Given the description of an element on the screen output the (x, y) to click on. 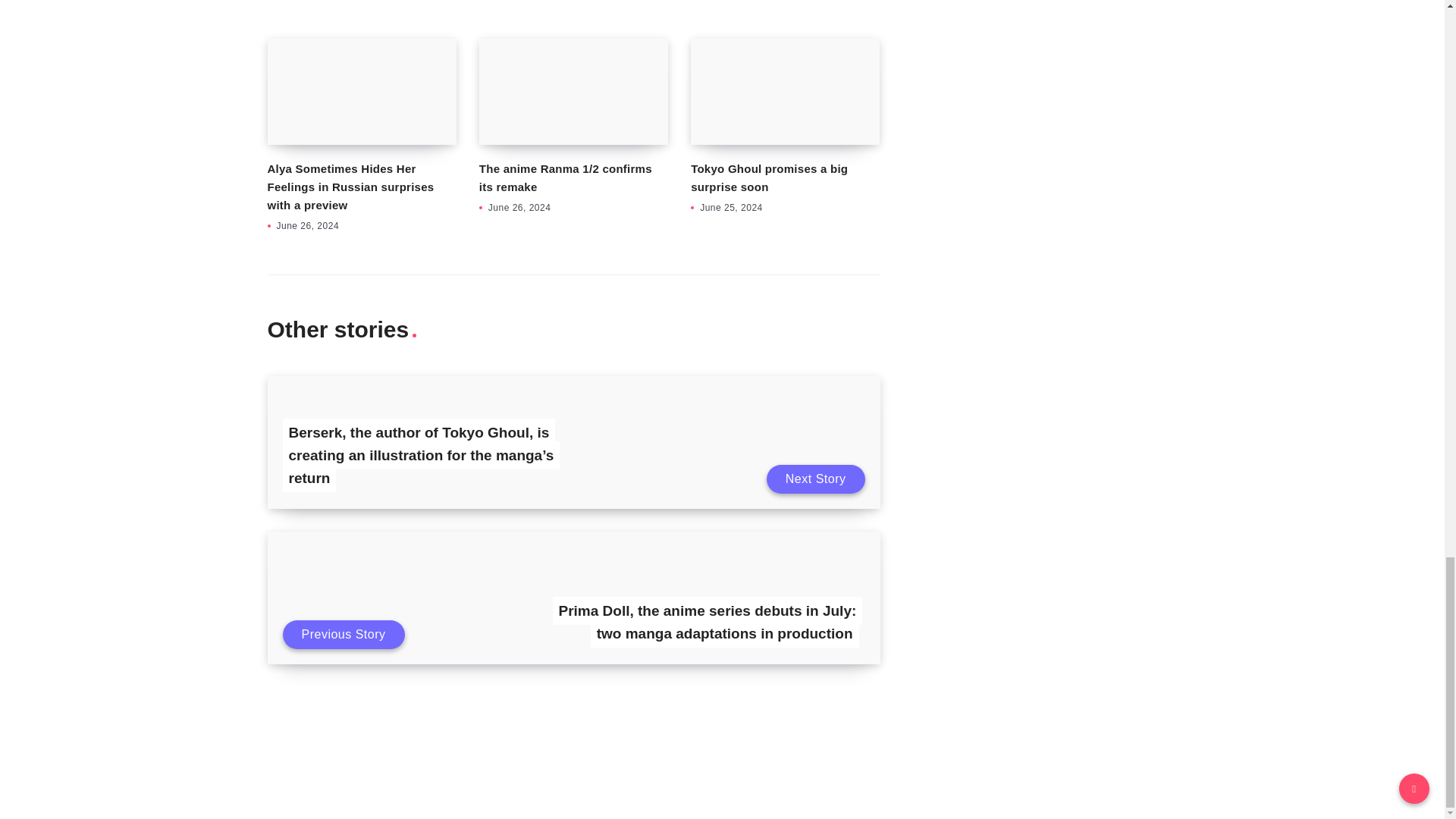
Tokyo Ghoul promises a big surprise soon (784, 91)
